Given the description of an element on the screen output the (x, y) to click on. 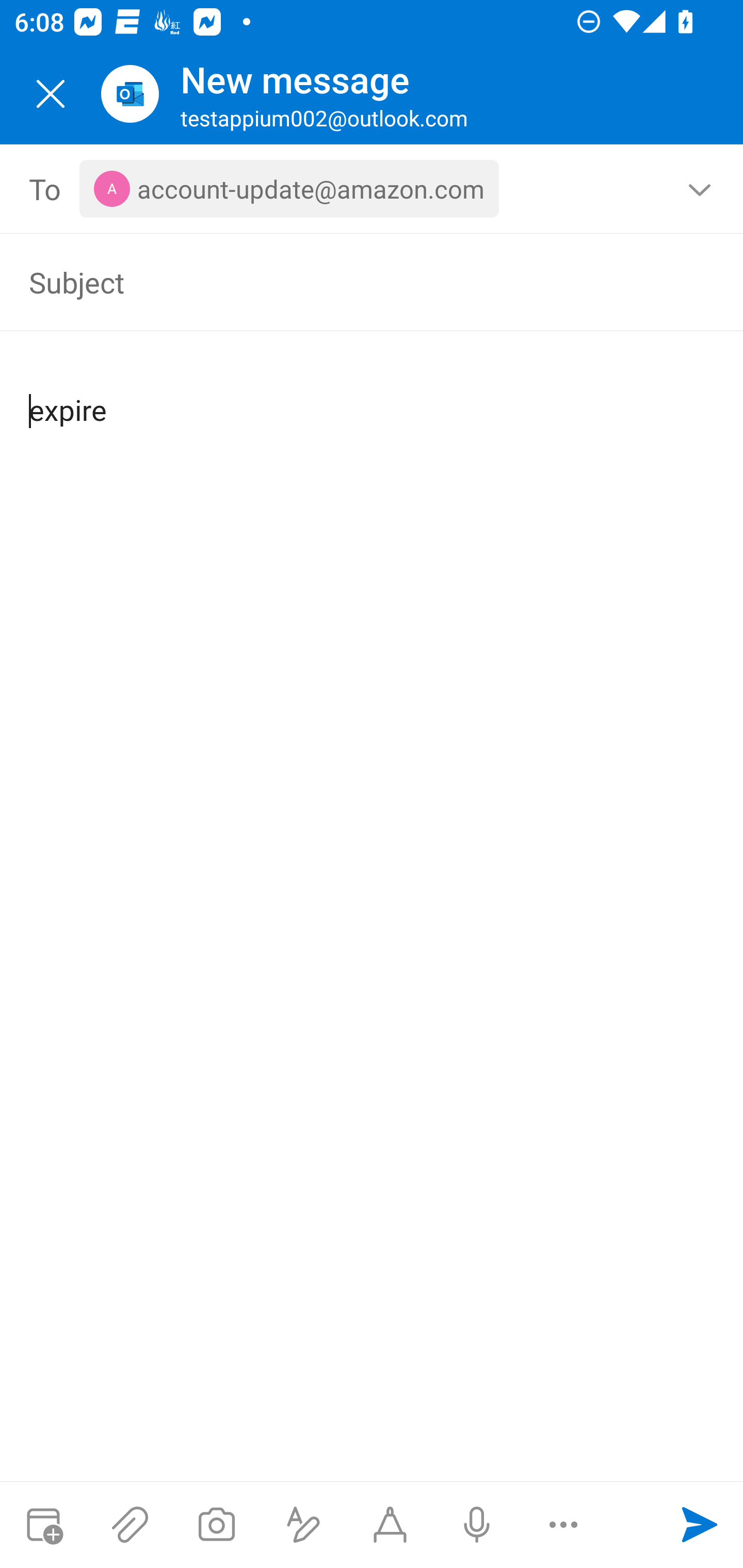
Close (50, 93)
Subject (342, 281)

expire (372, 394)
Attach meeting (43, 1524)
Attach files (129, 1524)
Take a photo (216, 1524)
Show formatting options (303, 1524)
Start Ink compose (389, 1524)
Dictation (476, 1524)
More options (563, 1524)
Send (699, 1524)
